Given the description of an element on the screen output the (x, y) to click on. 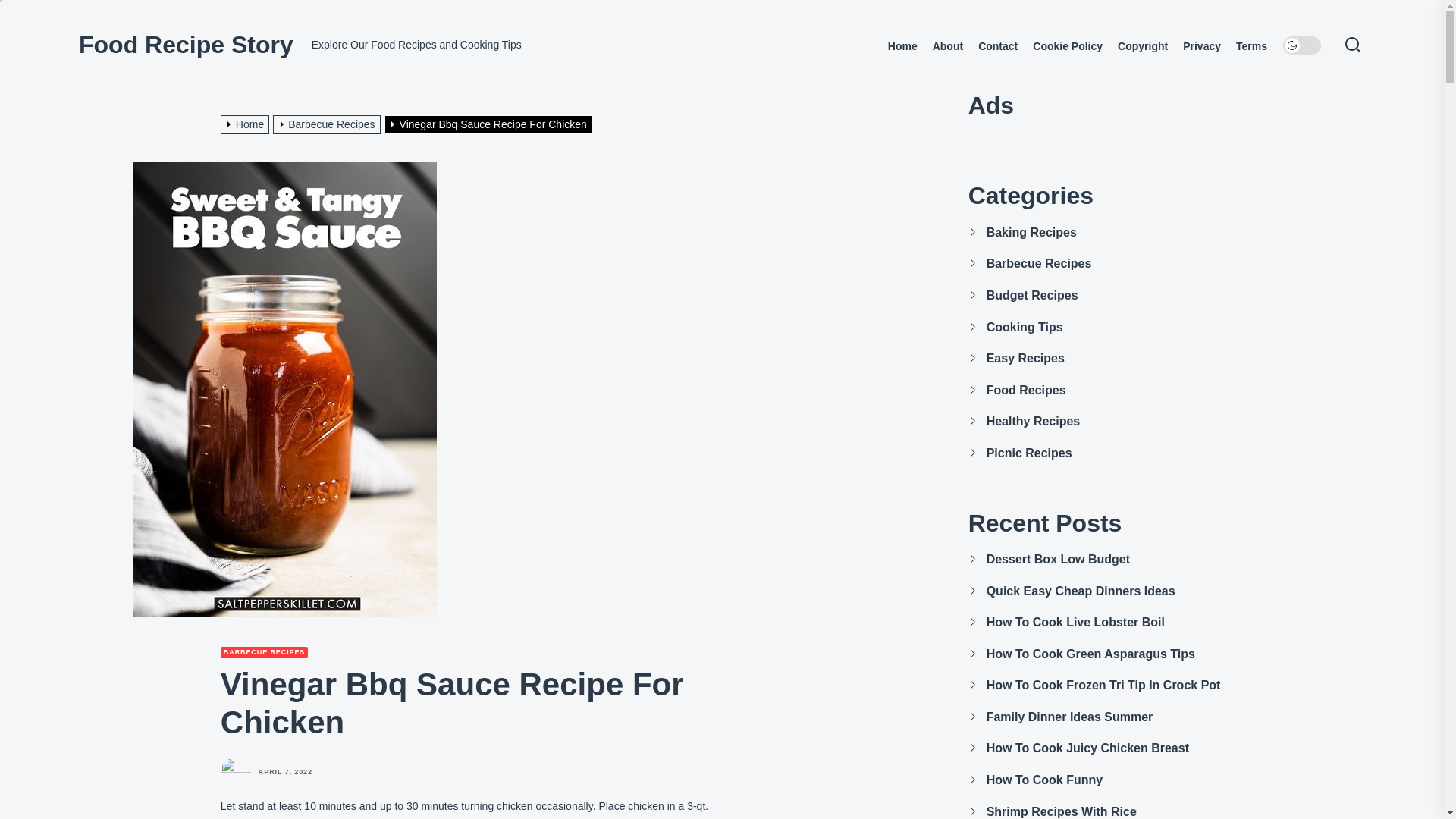
Privacy (1201, 46)
Barbecue Recipes (328, 123)
Home (902, 46)
Vinegar Bbq Sauce Recipe For Chicken (489, 123)
Cookie Policy (1067, 46)
Copyright (1142, 46)
Home (247, 123)
APRIL 7, 2022 (286, 771)
BARBECUE RECIPES (264, 652)
Contact (997, 46)
